Given the description of an element on the screen output the (x, y) to click on. 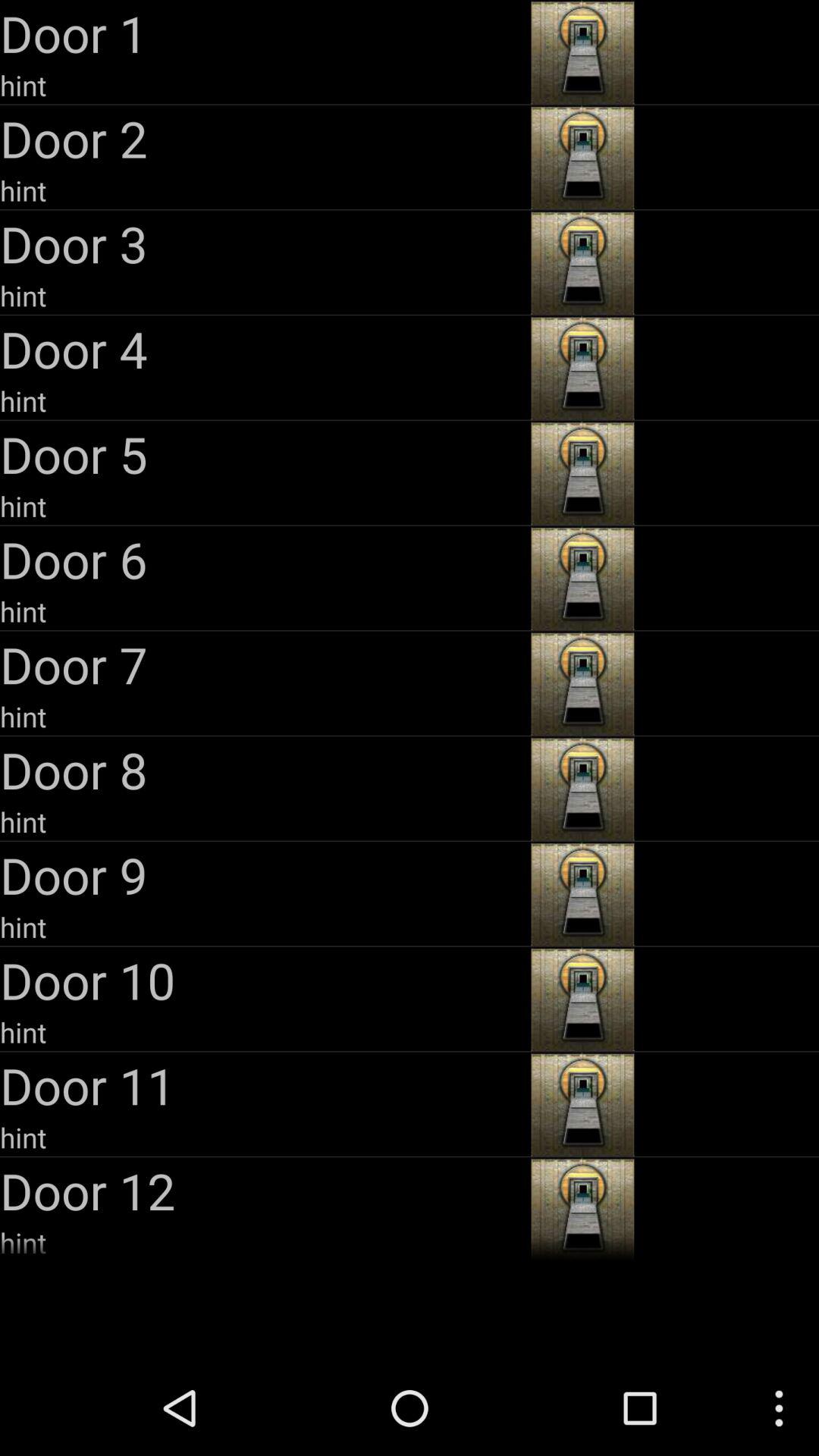
press the item below the hint app (263, 559)
